Given the description of an element on the screen output the (x, y) to click on. 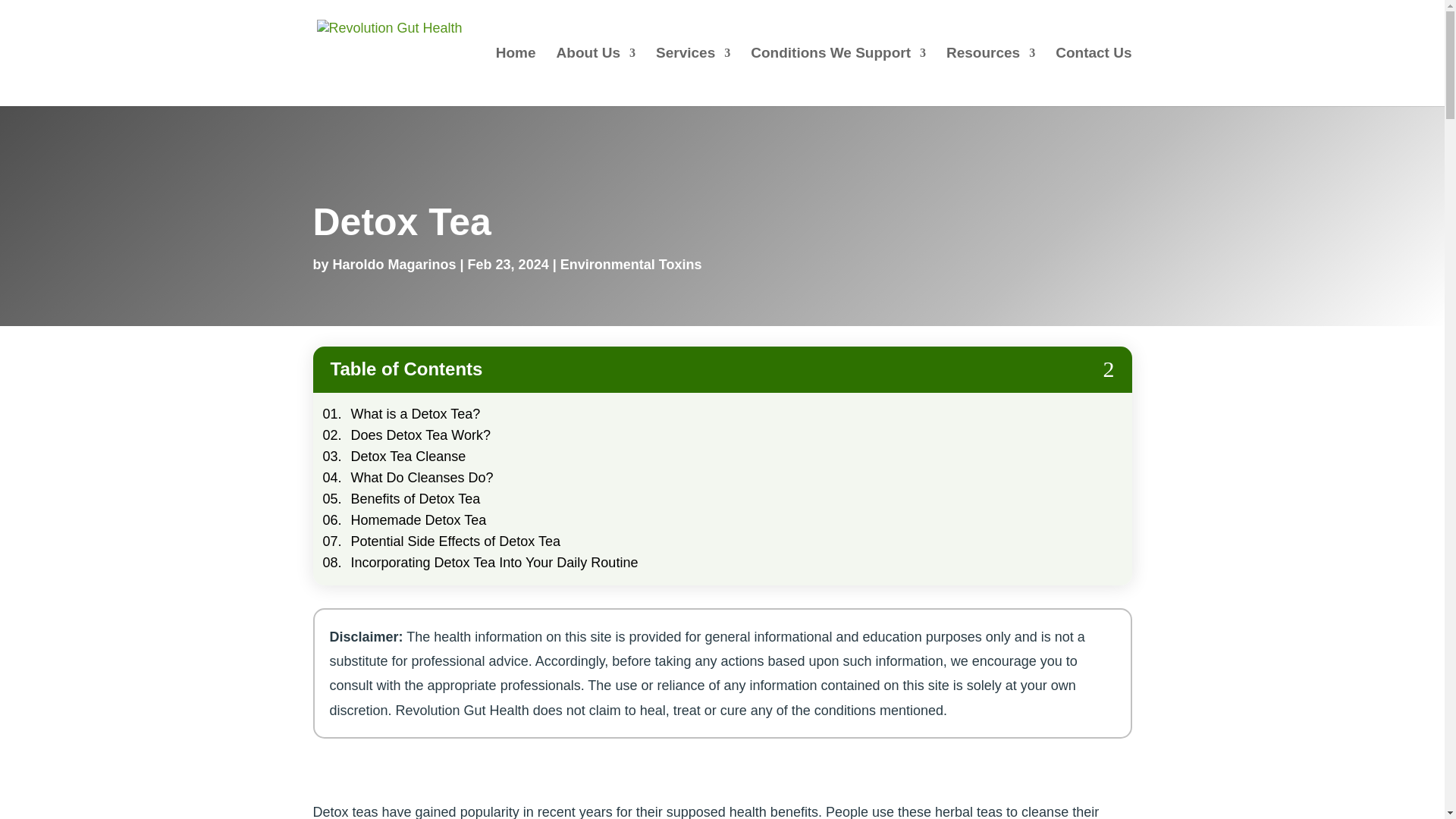
Detox Tea Cleanse (407, 456)
Benefits of Detox Tea (415, 499)
About Us (595, 76)
Resources (990, 76)
Haroldo Magarinos (395, 264)
Environmental Toxins (630, 264)
Posts by Haroldo Magarinos (395, 264)
Does Detox Tea Work? (419, 435)
What Do Cleanses Do? (421, 477)
Contact Us (1093, 76)
Services (693, 76)
What is a Detox Tea? (415, 414)
Conditions We Support (838, 76)
